Given the description of an element on the screen output the (x, y) to click on. 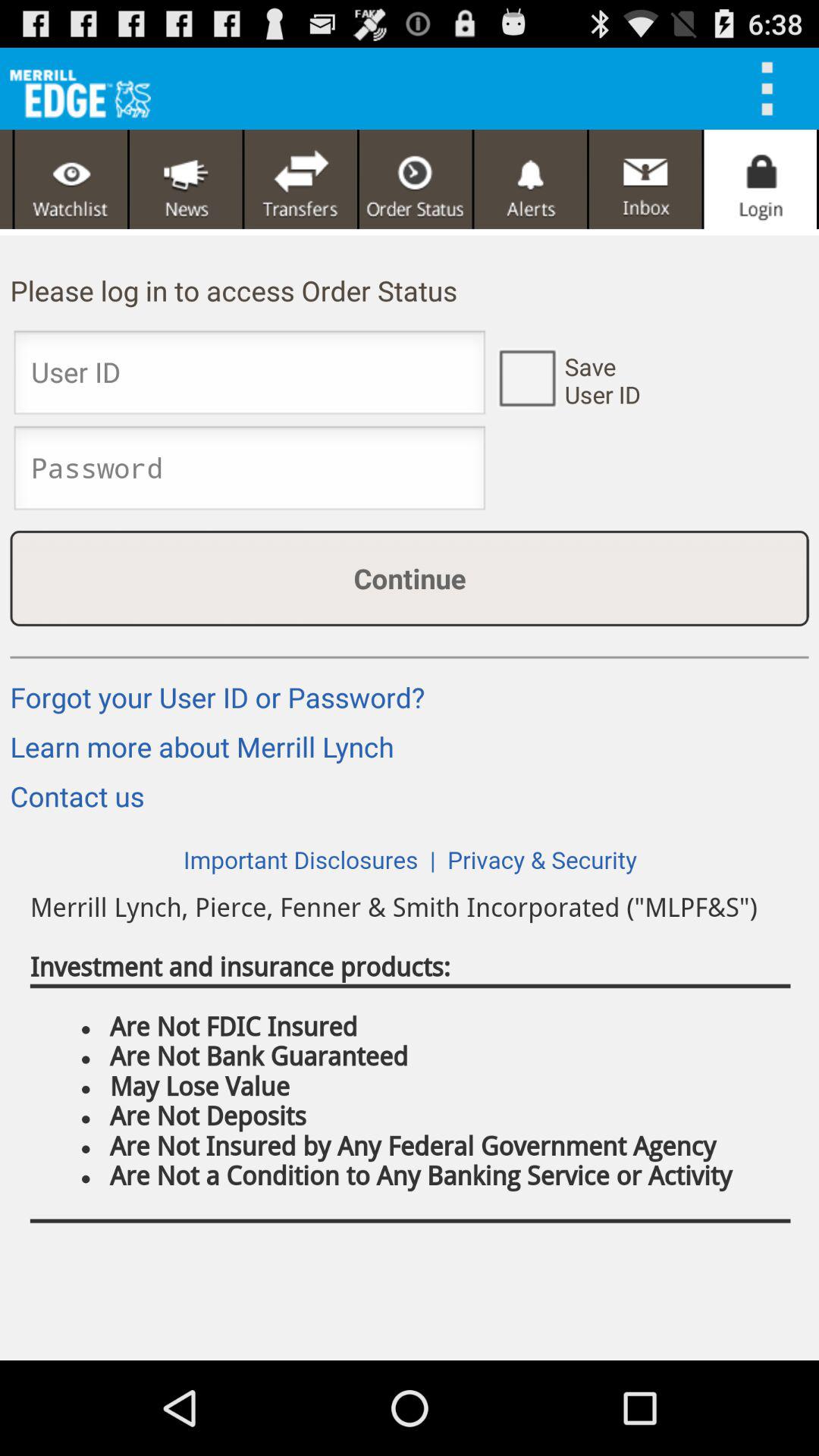
go to alerts page (530, 179)
